Given the description of an element on the screen output the (x, y) to click on. 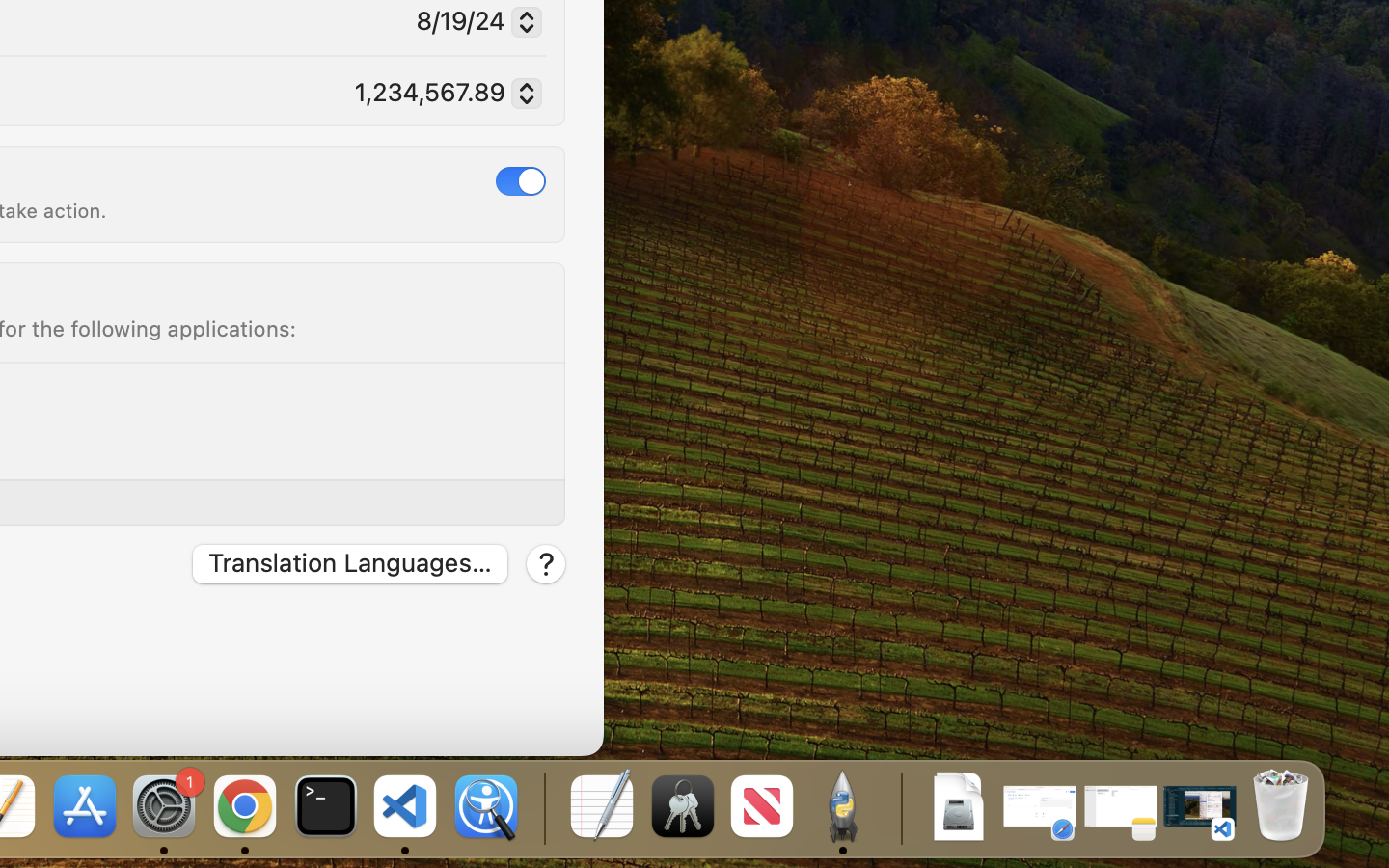
0.4285714328289032 Element type: AXDockItem (541, 807)
1 Element type: AXCheckBox (520, 179)
1,234,567.89 Element type: AXPopUpButton (439, 95)
8/19/24 Element type: AXPopUpButton (470, 24)
